Given the description of an element on the screen output the (x, y) to click on. 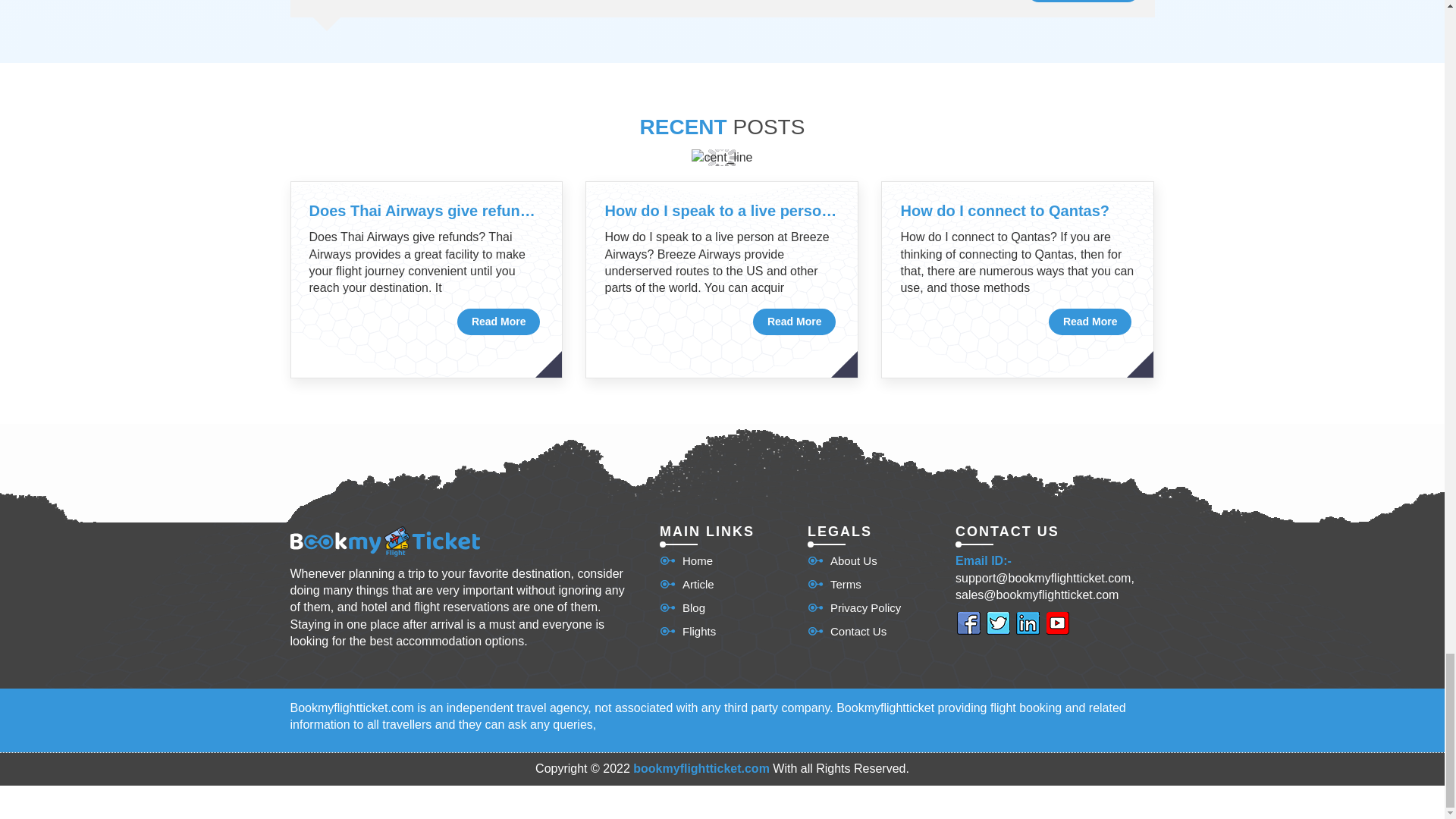
Terms (834, 584)
About Us (842, 560)
Read More (498, 321)
Contact Us (847, 631)
Blog (681, 607)
Article (686, 584)
Privacy Policy (854, 607)
Flights (687, 631)
Read More (793, 321)
Home (686, 560)
Read More (1090, 321)
